Given the description of an element on the screen output the (x, y) to click on. 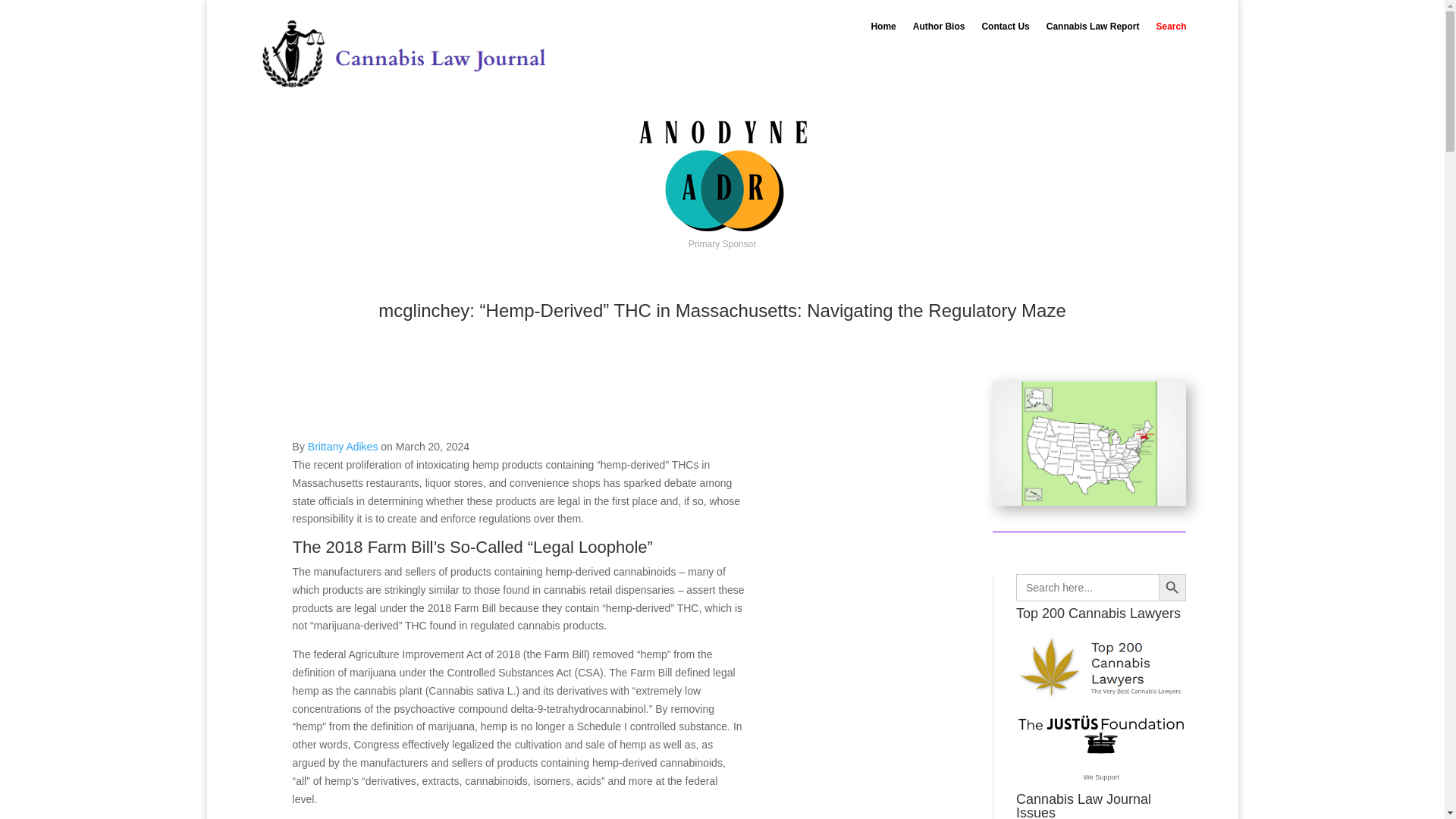
Screenshot 2024-03-31 at 10.07.12 pm (1089, 443)
Home (882, 29)
Search Button (1172, 587)
Search (1171, 29)
Journal-Logo (402, 55)
Brittany Adikes (342, 446)
Contact Us (1005, 29)
Anodyne-ADR-Black-231x155-Logo (721, 176)
Cannabis Law Report (1093, 29)
Author Bios (938, 29)
